Given the description of an element on the screen output the (x, y) to click on. 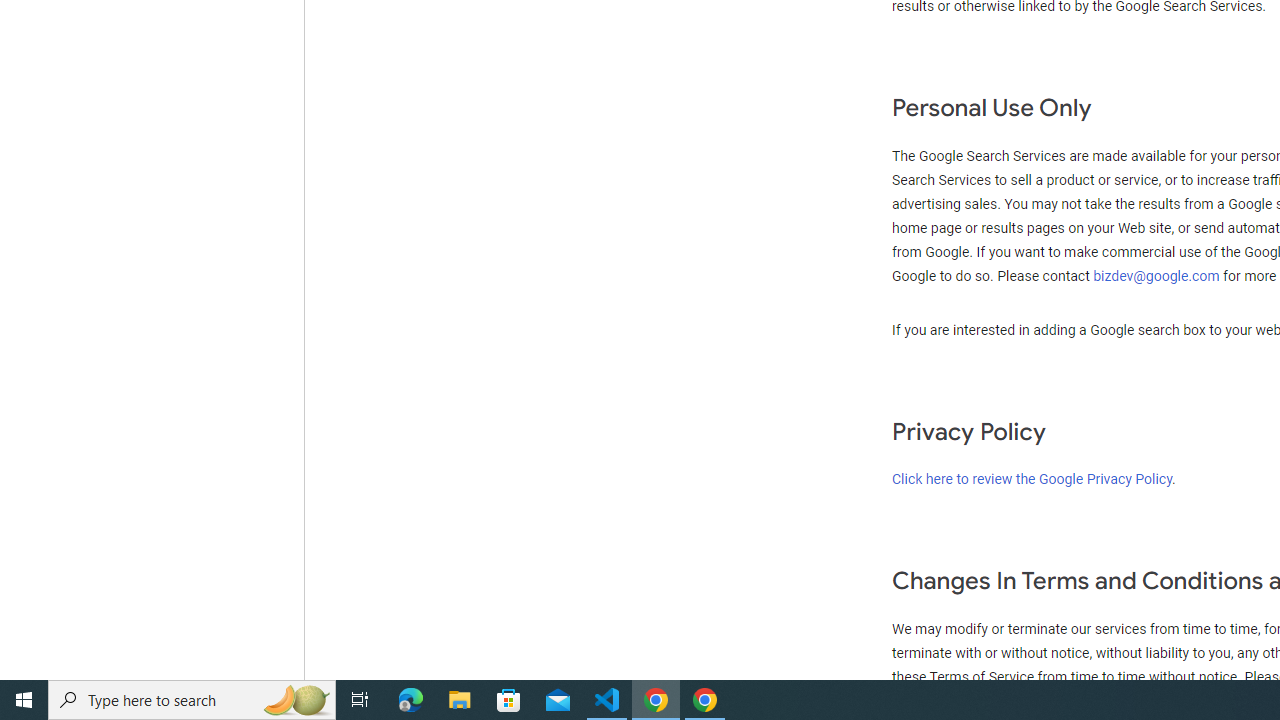
bizdev@google.com  (1158, 276)
Click here to review the Google Privacy Policy (1032, 479)
